Given the description of an element on the screen output the (x, y) to click on. 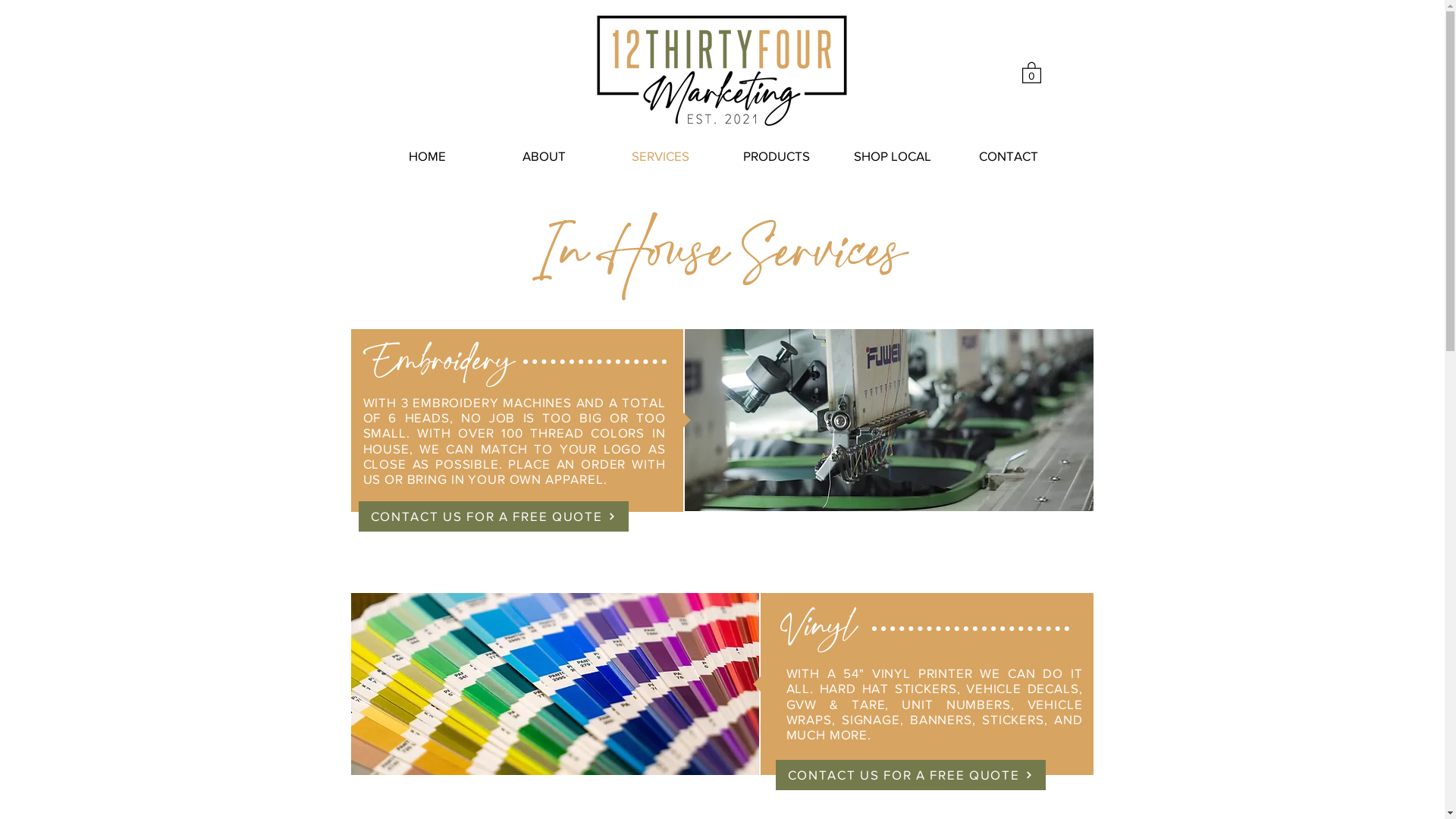
CONTACT Element type: text (1008, 155)
SERVICES Element type: text (660, 155)
SHOP LOCAL Element type: text (892, 155)
ABOUT Element type: text (543, 155)
PRODUCTS Element type: text (776, 155)
0 Element type: text (1031, 71)
CONTACT US FOR A FREE QUOTE Element type: text (492, 516)
HOME Element type: text (426, 155)
CONTACT US FOR A FREE QUOTE Element type: text (909, 774)
